Given the description of an element on the screen output the (x, y) to click on. 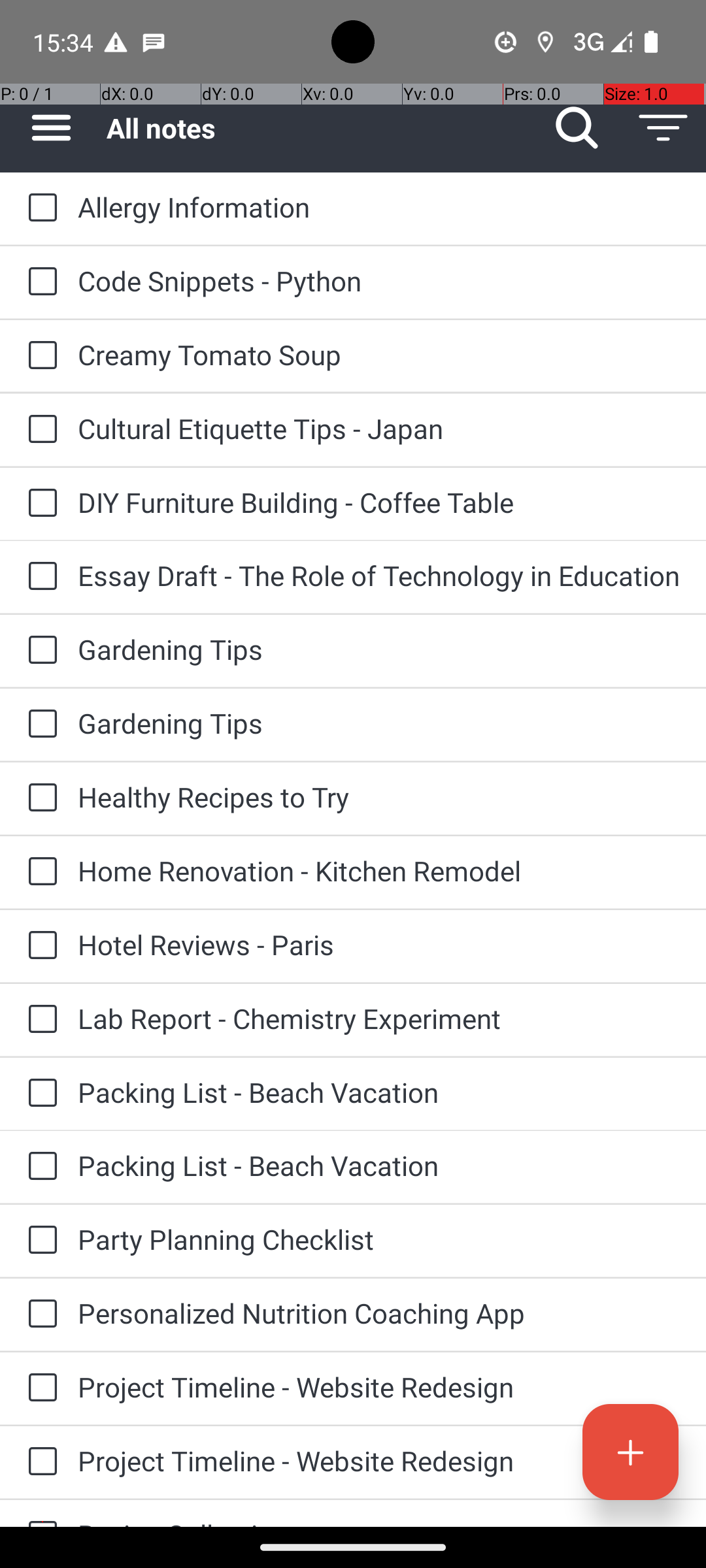
to-do: Allergy Information Element type: android.widget.CheckBox (38, 208)
Allergy Information Element type: android.widget.TextView (378, 206)
to-do: Code Snippets - Python Element type: android.widget.CheckBox (38, 282)
Code Snippets - Python Element type: android.widget.TextView (378, 280)
to-do: Creamy Tomato Soup Element type: android.widget.CheckBox (38, 356)
Creamy Tomato Soup Element type: android.widget.TextView (378, 354)
to-do: Cultural Etiquette Tips - Japan Element type: android.widget.CheckBox (38, 429)
Cultural Etiquette Tips - Japan Element type: android.widget.TextView (378, 427)
to-do: DIY Furniture Building - Coffee Table Element type: android.widget.CheckBox (38, 503)
DIY Furniture Building - Coffee Table Element type: android.widget.TextView (378, 501)
to-do: Gardening Tips Element type: android.widget.CheckBox (38, 650)
Gardening Tips Element type: android.widget.TextView (378, 648)
to-do: Healthy Recipes to Try Element type: android.widget.CheckBox (38, 798)
Healthy Recipes to Try Element type: android.widget.TextView (378, 796)
to-do: Home Renovation - Kitchen Remodel Element type: android.widget.CheckBox (38, 872)
Home Renovation - Kitchen Remodel Element type: android.widget.TextView (378, 870)
to-do: Hotel Reviews - Paris Element type: android.widget.CheckBox (38, 945)
Hotel Reviews - Paris Element type: android.widget.TextView (378, 944)
to-do: Lab Report - Chemistry Experiment Element type: android.widget.CheckBox (38, 1019)
Lab Report - Chemistry Experiment Element type: android.widget.TextView (378, 1017)
to-do: Packing List - Beach Vacation Element type: android.widget.CheckBox (38, 1093)
Packing List - Beach Vacation Element type: android.widget.TextView (378, 1091)
to-do: Party Planning Checklist Element type: android.widget.CheckBox (38, 1240)
Party Planning Checklist Element type: android.widget.TextView (378, 1238)
to-do: Personalized Nutrition Coaching App Element type: android.widget.CheckBox (38, 1314)
Personalized Nutrition Coaching App Element type: android.widget.TextView (378, 1312)
to-do: Project Timeline - Website Redesign Element type: android.widget.CheckBox (38, 1388)
Project Timeline - Website Redesign Element type: android.widget.TextView (378, 1386)
to-do: Recipe Collection Element type: android.widget.CheckBox (38, 1513)
Recipe Collection Element type: android.widget.TextView (378, 1520)
